Given the description of an element on the screen output the (x, y) to click on. 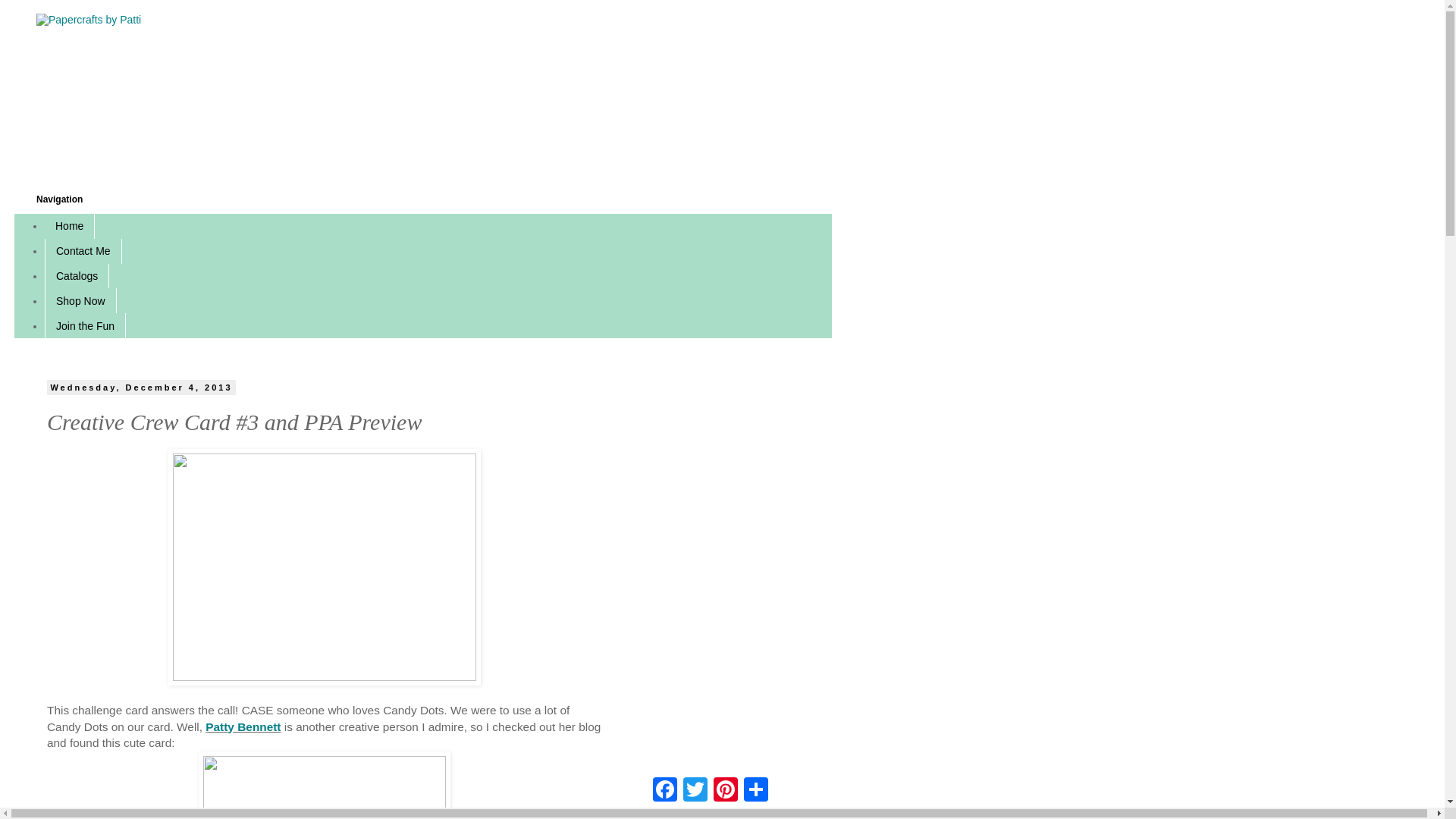
Join the Fun (85, 325)
Catalogs (77, 276)
Shop Now (80, 300)
Home (69, 226)
Patty Bennett (243, 726)
Contact Me (83, 251)
